Given the description of an element on the screen output the (x, y) to click on. 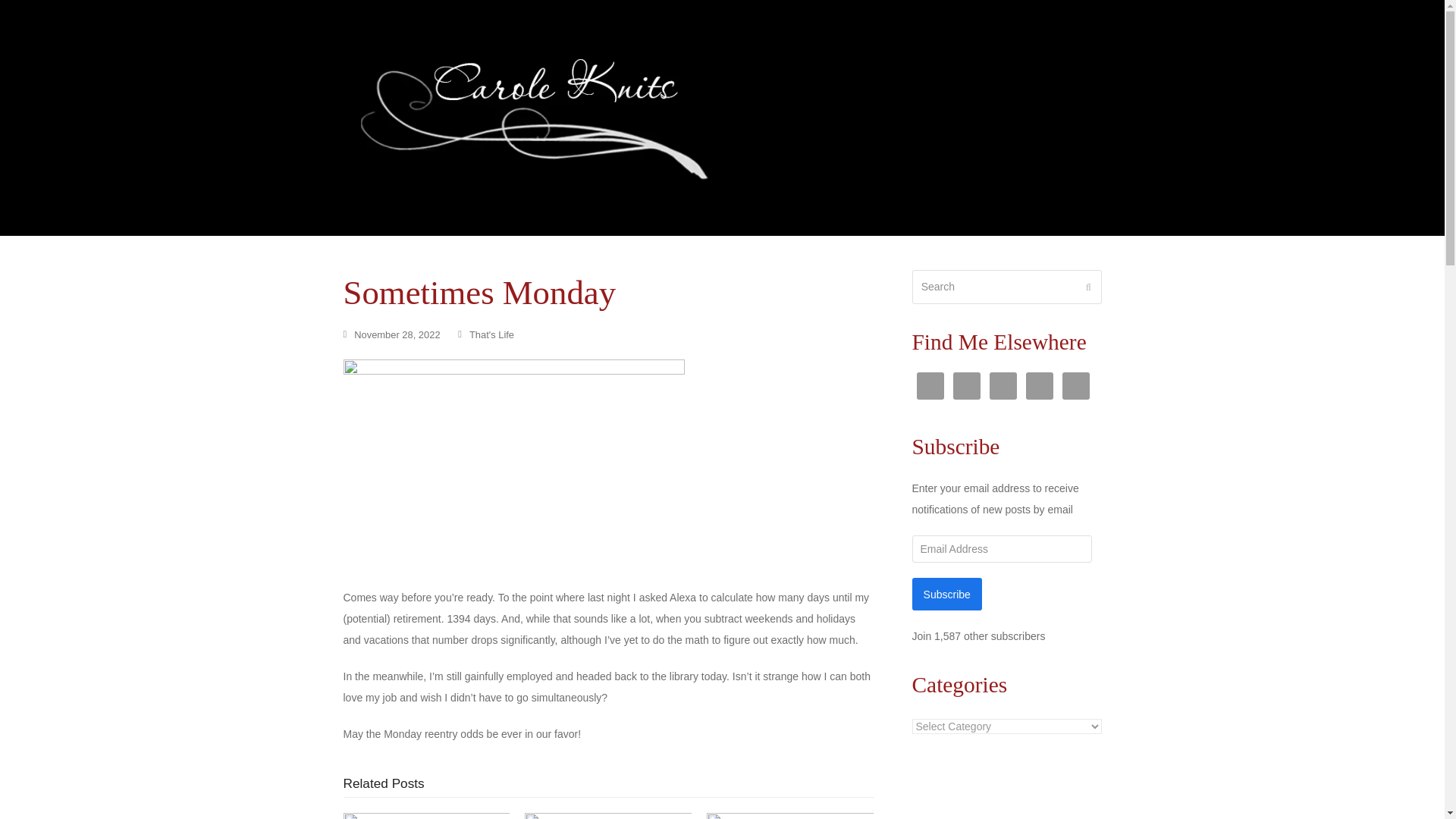
Submit (1088, 287)
That's Life (490, 334)
Subscribe (946, 594)
